Given the description of an element on the screen output the (x, y) to click on. 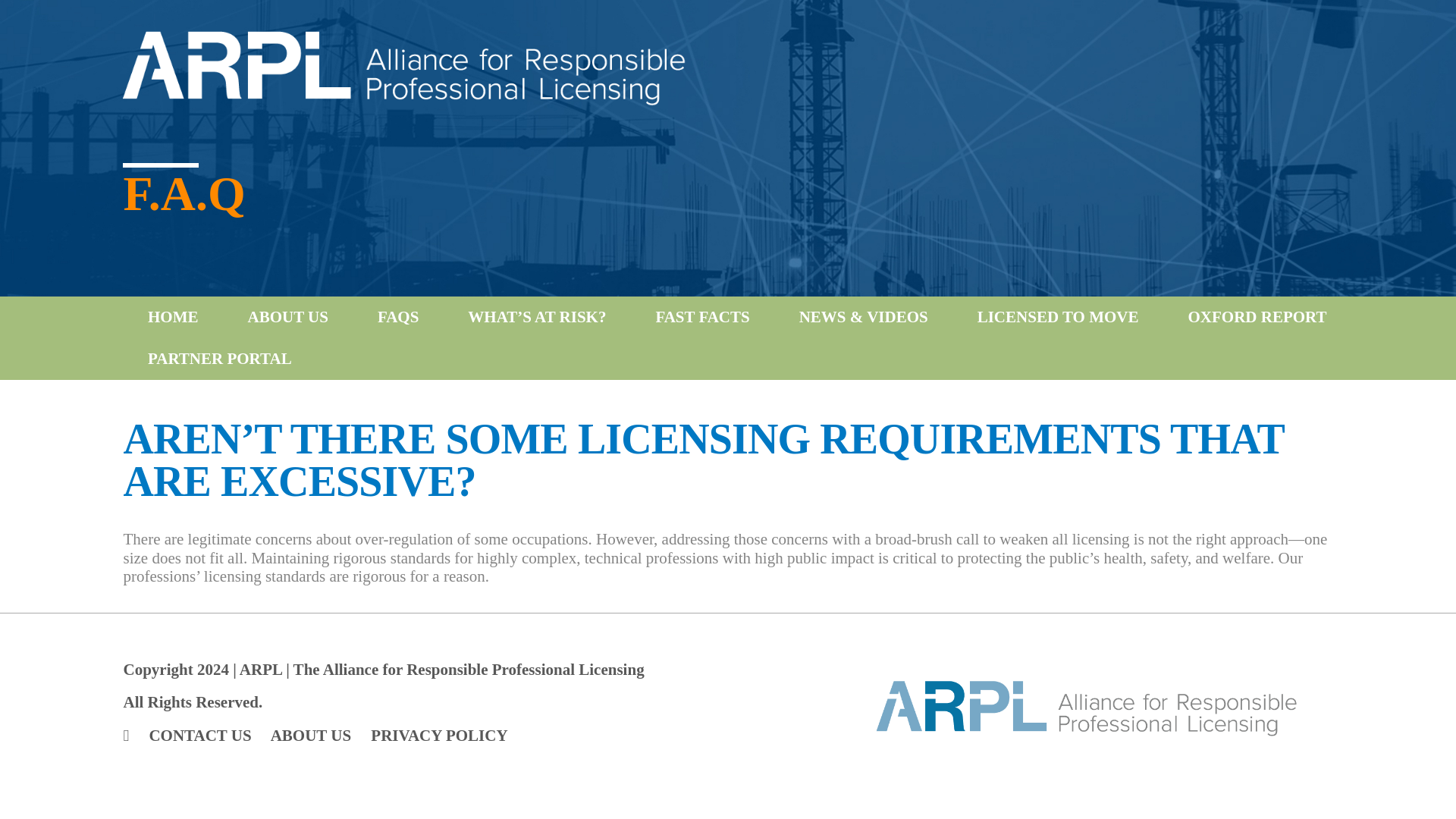
PARTNER PORTAL (217, 359)
CONTACT US (199, 735)
HOME (170, 317)
FAQS (395, 317)
FAST FACTS (699, 317)
ABOUT US (310, 735)
LICENSED TO MOVE (1055, 317)
PRIVACY POLICY (438, 735)
OXFORD REPORT (1254, 317)
ABOUT US (285, 317)
